Given the description of an element on the screen output the (x, y) to click on. 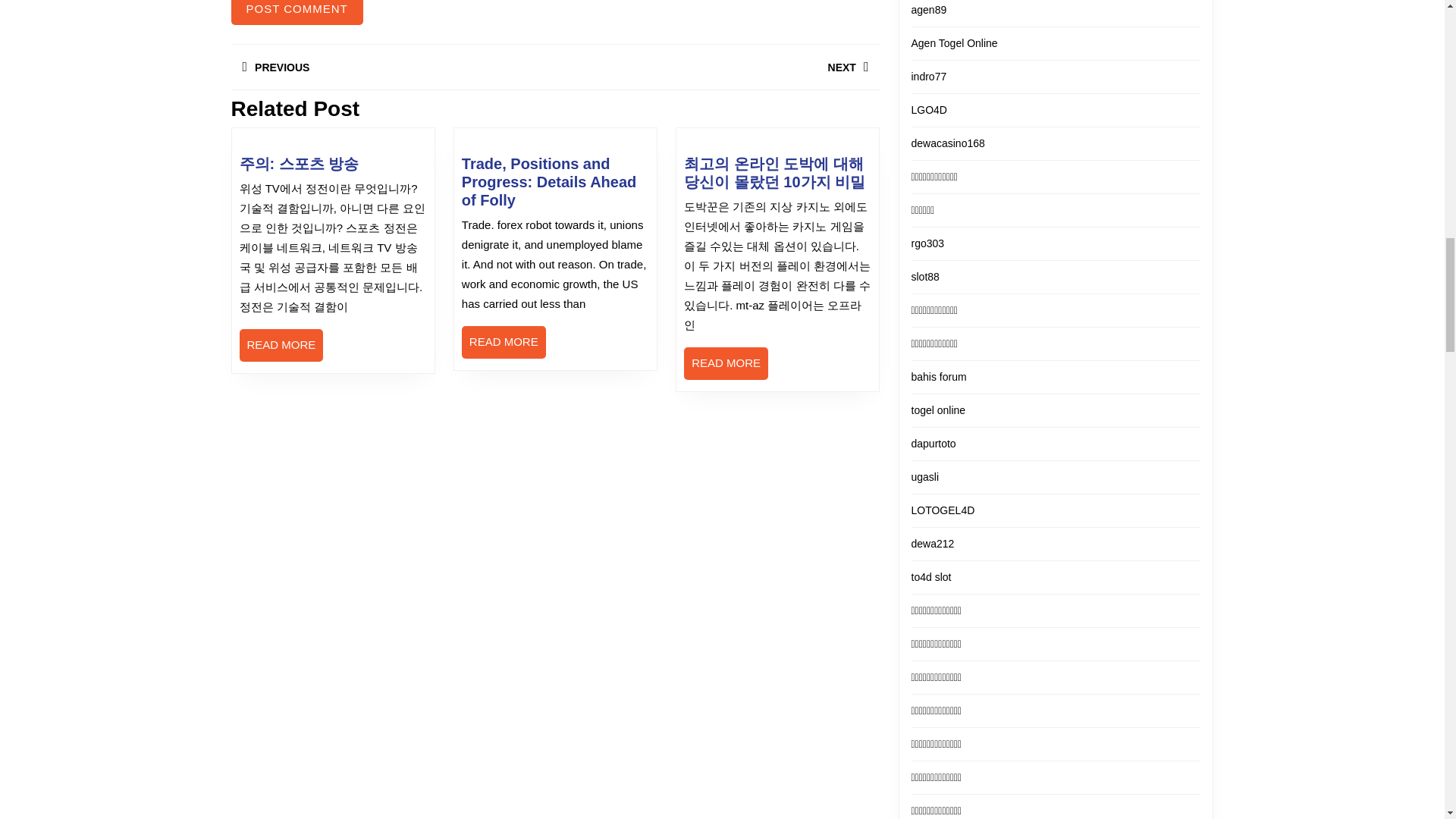
Post Comment (392, 67)
Post Comment (296, 12)
